Given the description of an element on the screen output the (x, y) to click on. 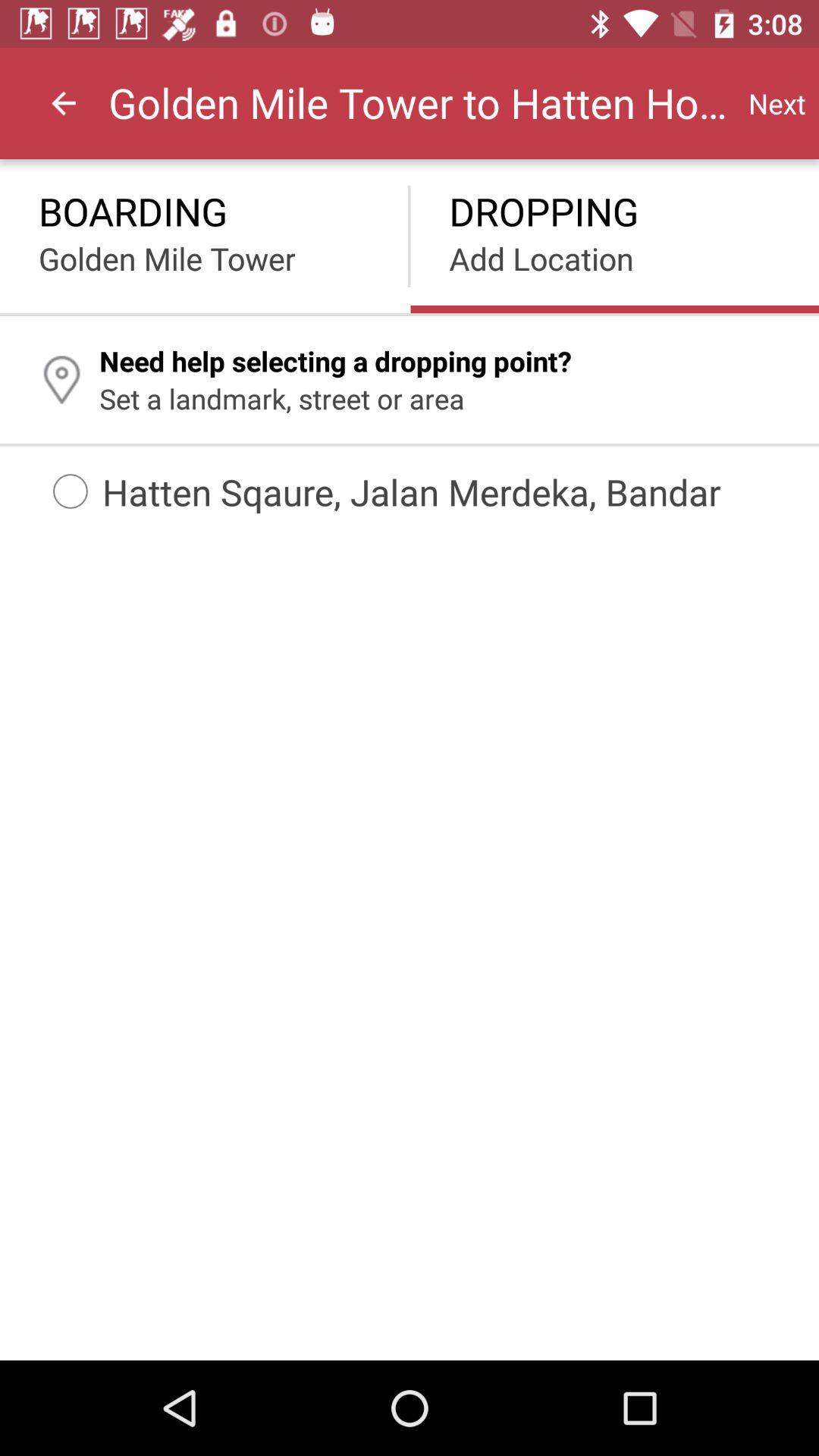
back (63, 103)
